Given the description of an element on the screen output the (x, y) to click on. 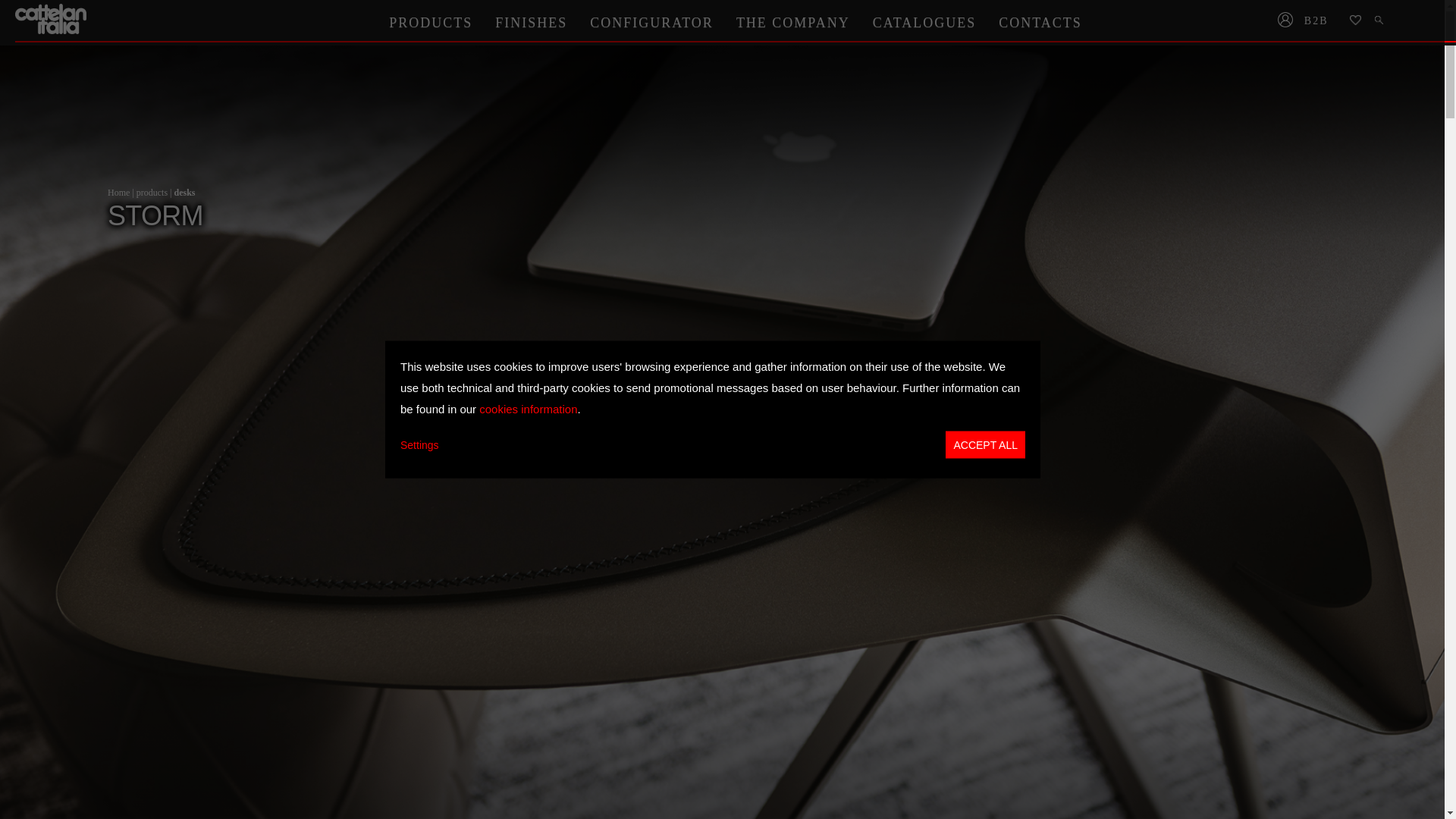
B2B (1321, 20)
THE COMPANY (793, 22)
CONFIGURATOR (651, 22)
CATALOGUES (924, 22)
products (151, 192)
PRODUCTS (430, 22)
cookies information (527, 408)
products (151, 192)
FINISHES (530, 22)
CONTACTS (1040, 22)
DESKS (184, 192)
Settings (419, 444)
ACCEPT ALL (984, 443)
Cookies information (527, 408)
Search... (1381, 20)
